Given the description of an element on the screen output the (x, y) to click on. 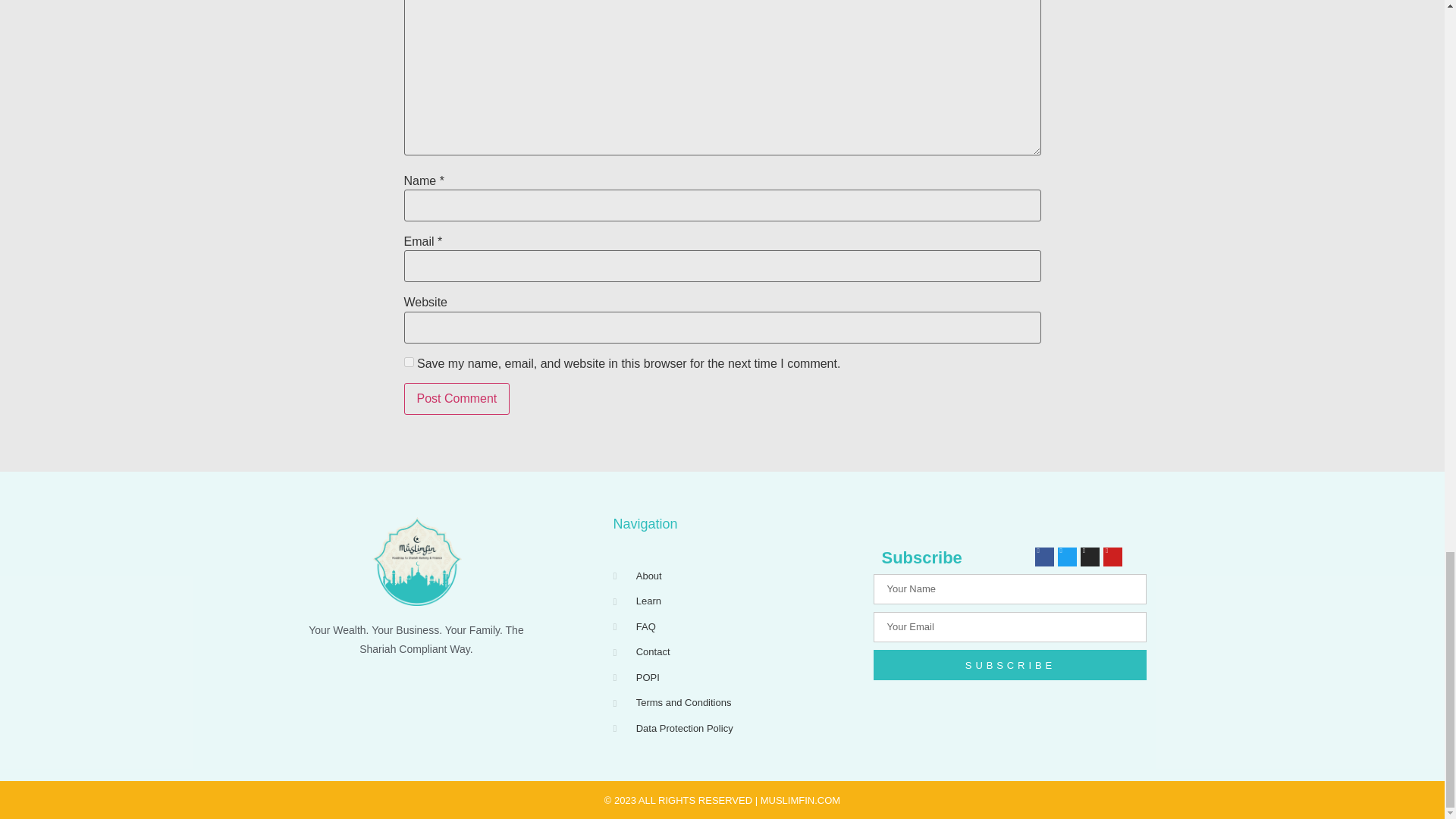
FAQ (735, 626)
yes (408, 361)
POPI (735, 677)
Data Protection Policy (735, 728)
Post Comment (456, 398)
About (735, 575)
Terms and Conditions (735, 702)
Learn (735, 601)
Post Comment (456, 398)
Contact (735, 652)
